Given the description of an element on the screen output the (x, y) to click on. 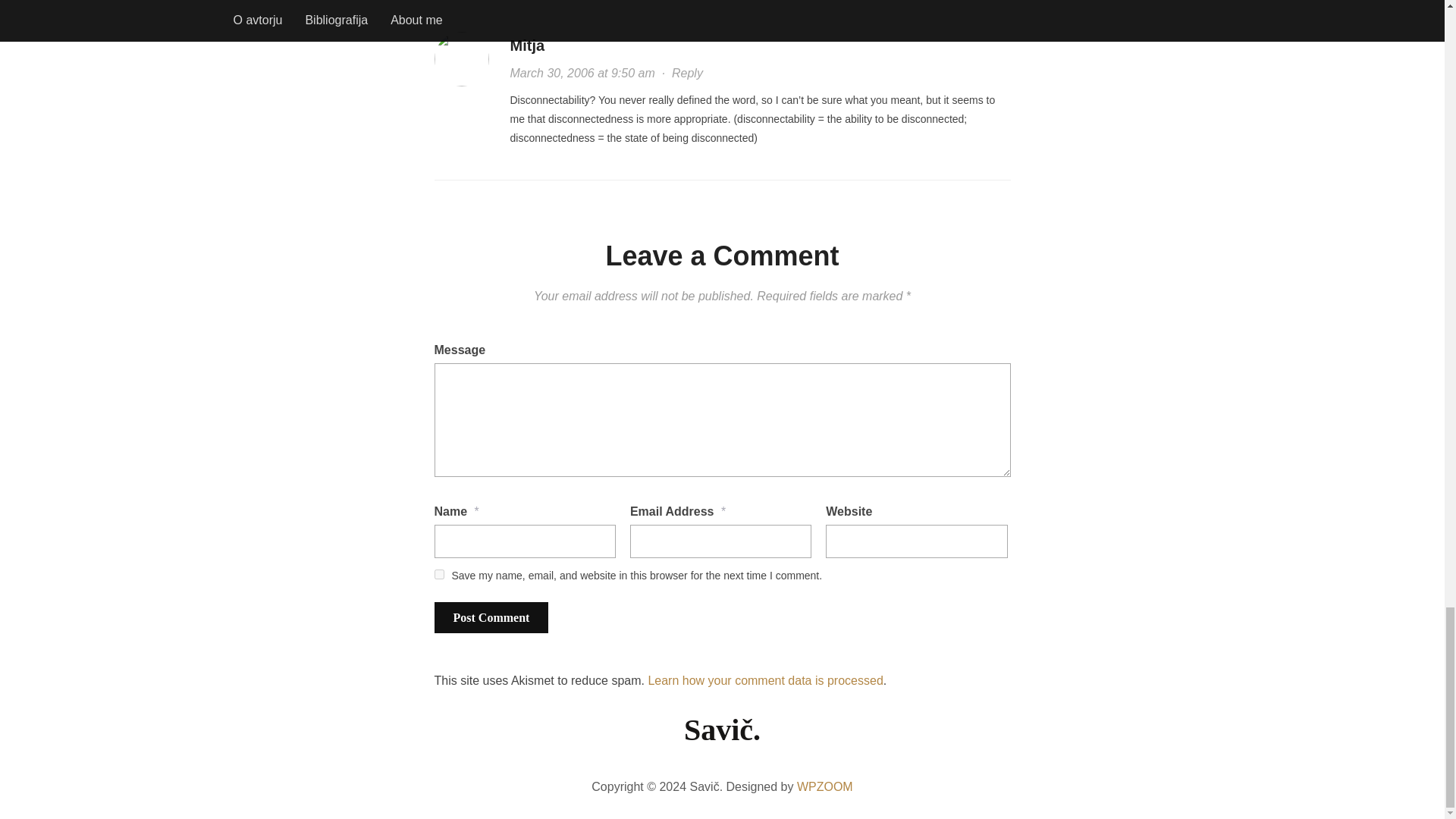
yes (438, 574)
Post Comment (490, 617)
